Given the description of an element on the screen output the (x, y) to click on. 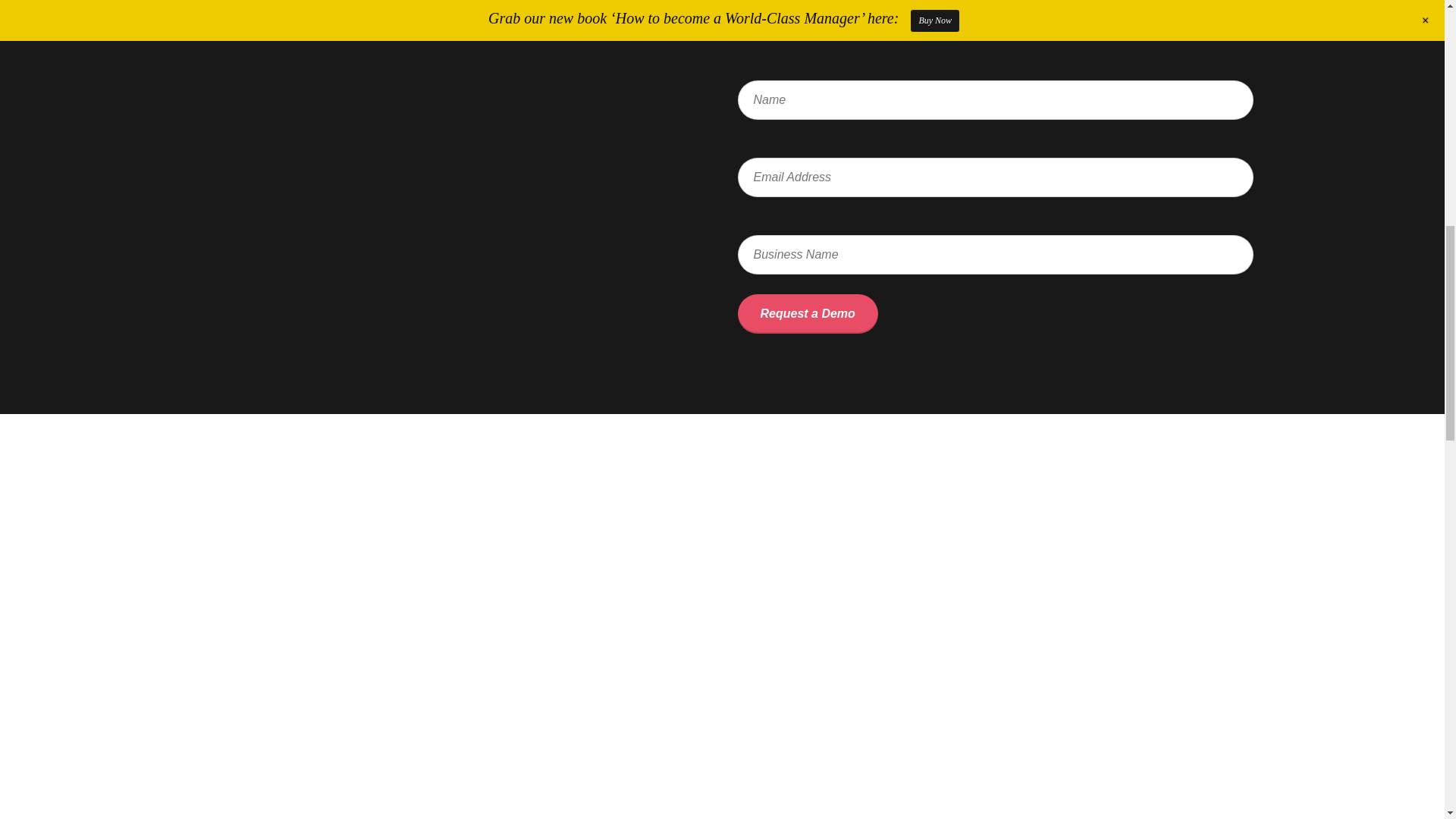
Request a Demo (806, 313)
Request a Demo (806, 313)
